Given the description of an element on the screen output the (x, y) to click on. 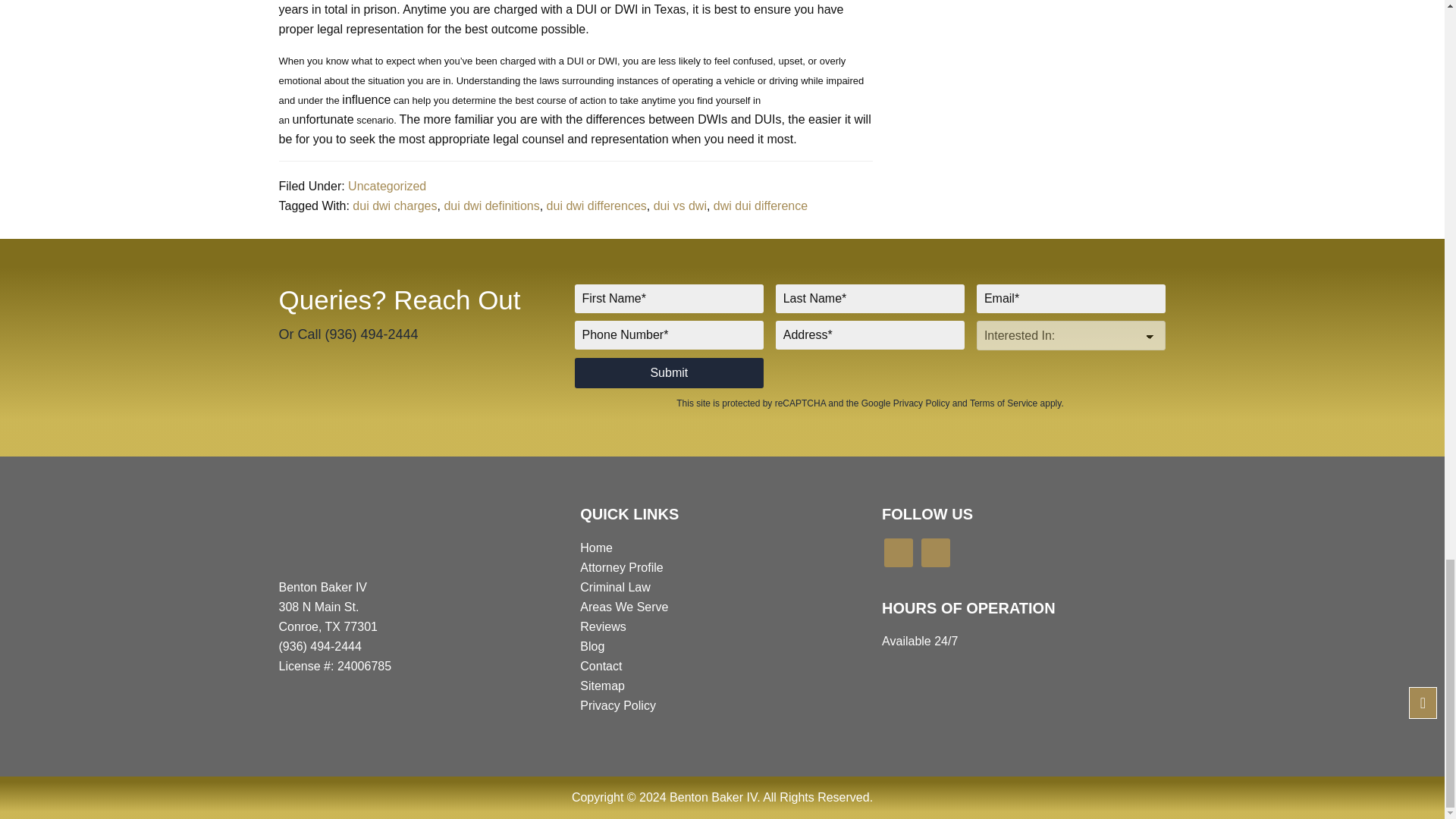
Benton Baker IV Attorney At Law (311, 534)
Google My Business (897, 551)
Facebook (935, 551)
Submit (669, 372)
